Given the description of an element on the screen output the (x, y) to click on. 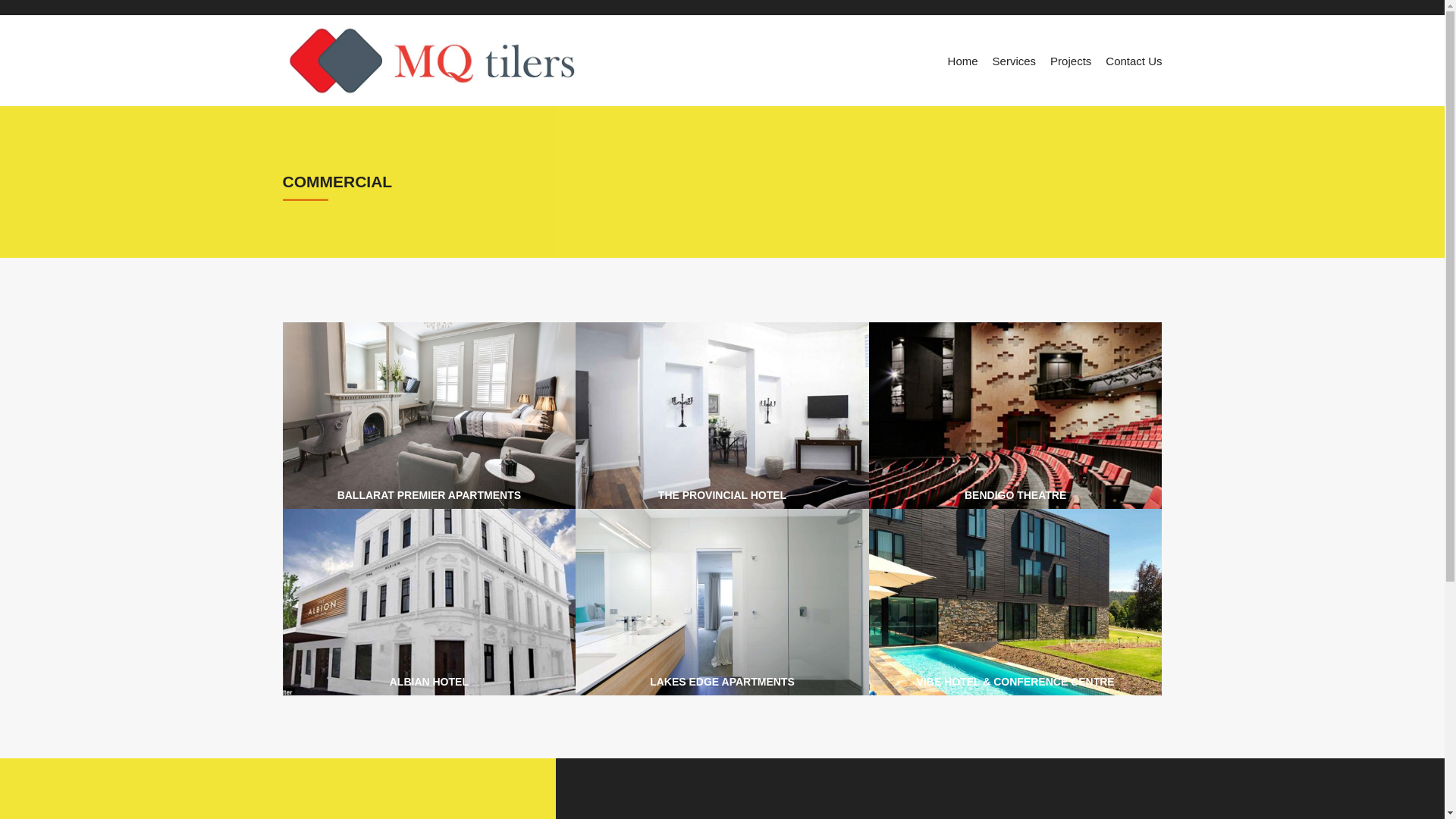
Home Element type: text (962, 60)
Contact Us Element type: text (1133, 60)
Services Element type: text (1014, 60)
Projects Element type: text (1070, 60)
